Given the description of an element on the screen output the (x, y) to click on. 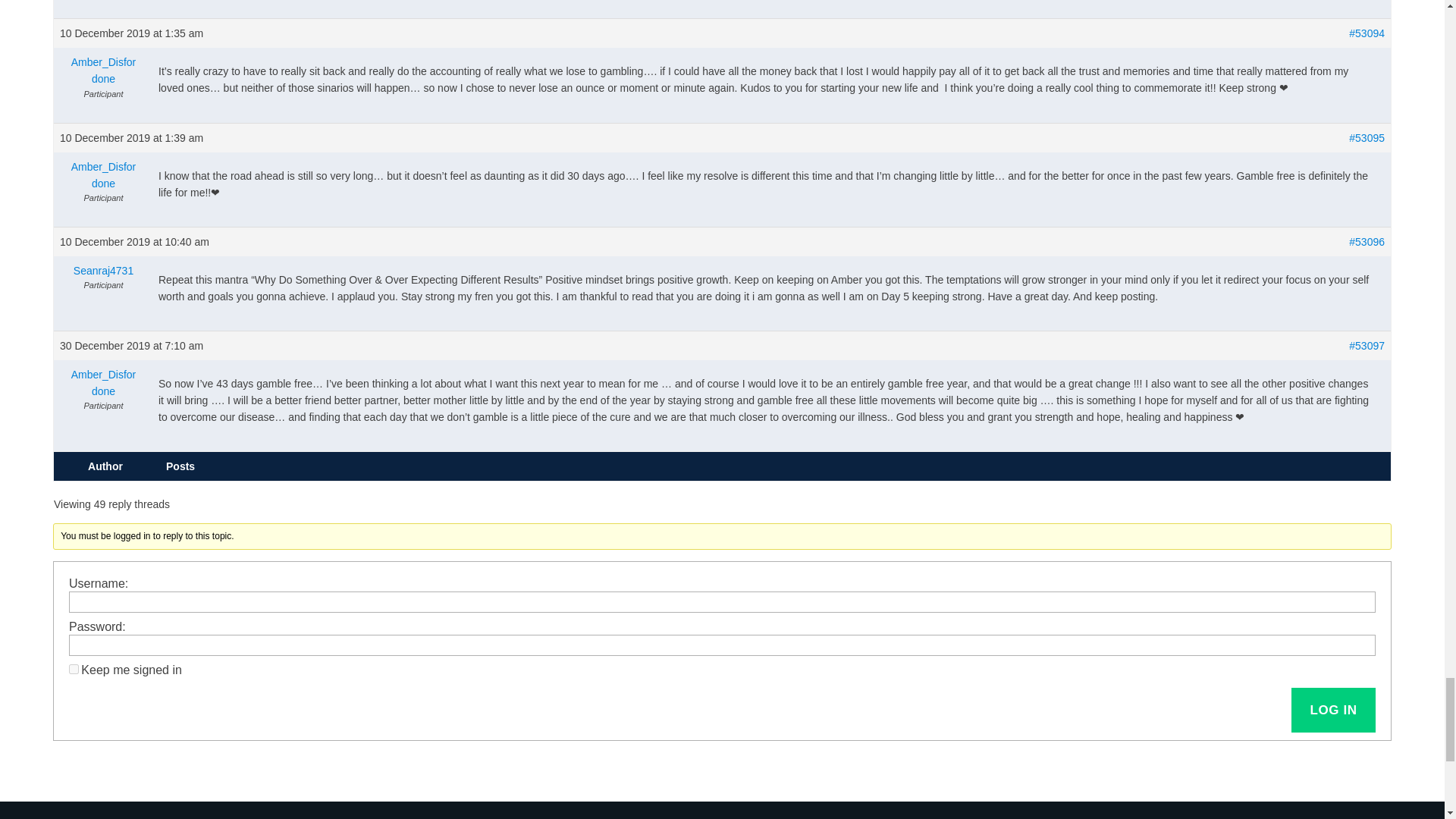
forever (73, 669)
